Given the description of an element on the screen output the (x, y) to click on. 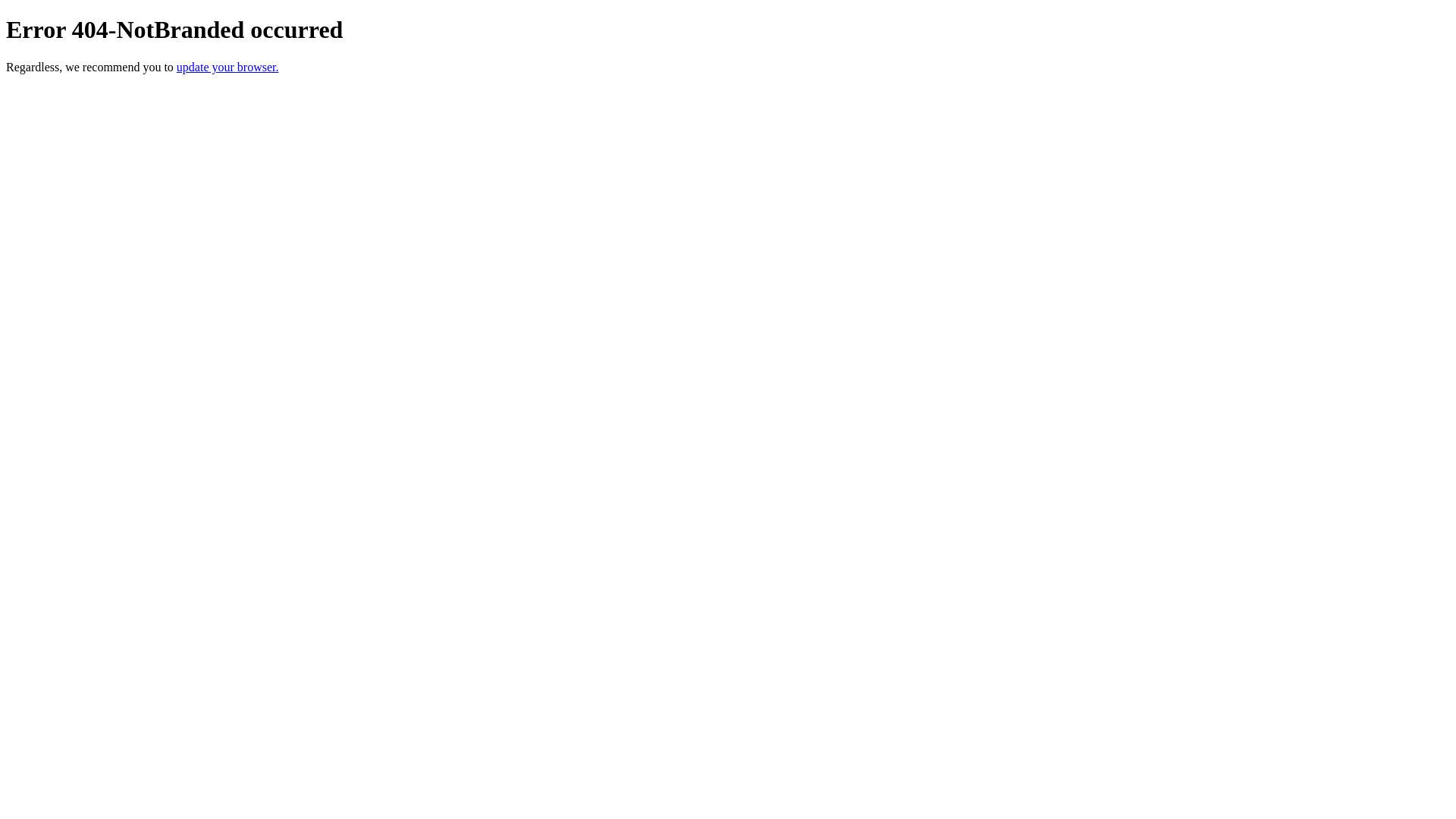
update your browser. Element type: text (227, 66)
